Given the description of an element on the screen output the (x, y) to click on. 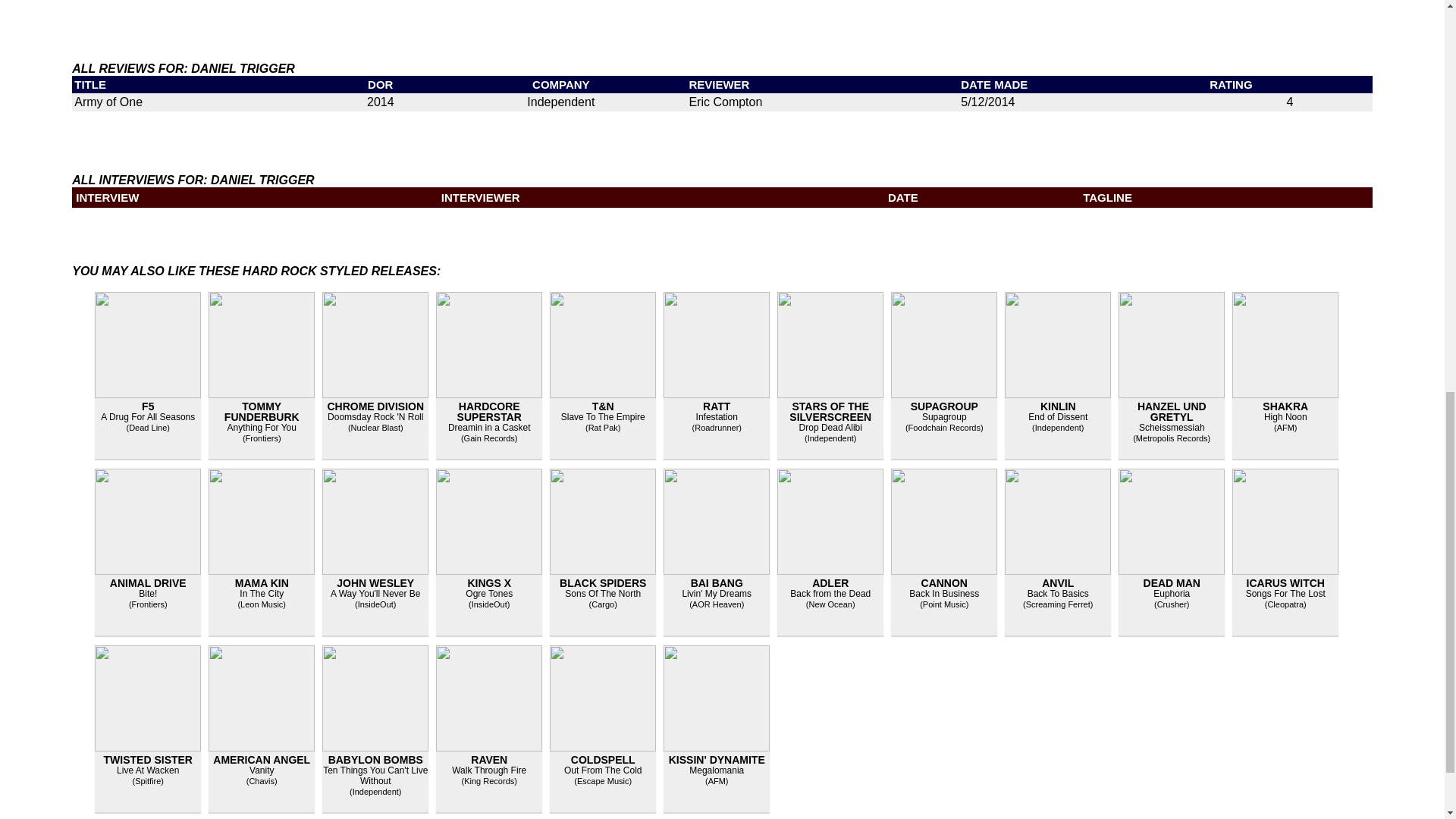
Army of One (108, 101)
A Drug For All Seasons (147, 416)
RATT (716, 406)
Supagroup (943, 416)
End of Dissent (1057, 416)
STARS OF THE SILVERSCREEN (829, 411)
KINLIN (1058, 406)
Slave To The Empire (602, 416)
SUPAGROUP (944, 406)
Doomsday Rock 'N Roll (375, 416)
